Given the description of an element on the screen output the (x, y) to click on. 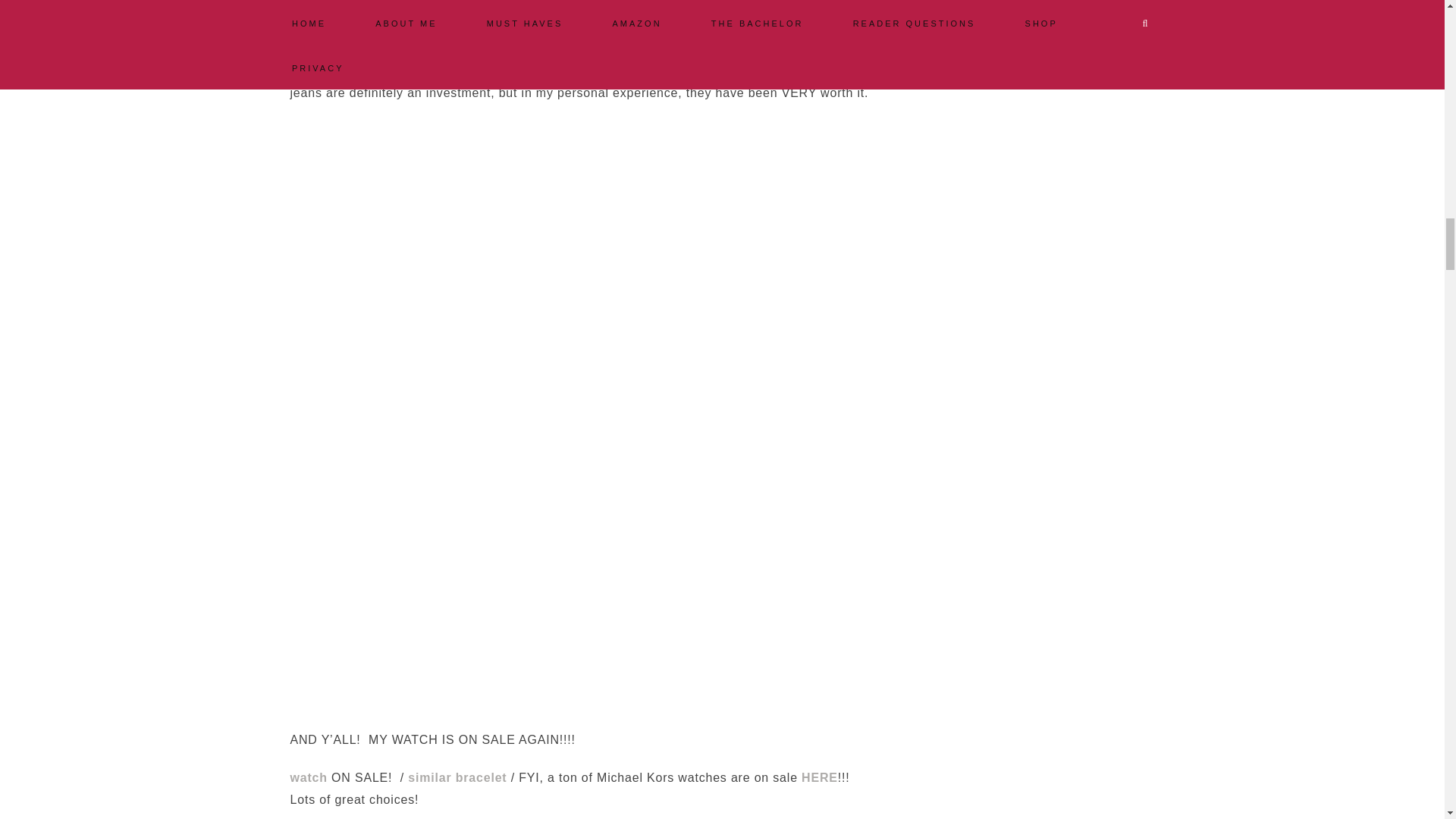
watch (307, 777)
similar bracelet (456, 777)
HERE (820, 777)
THE PERFECT ANKLE JEAN (767, 27)
